Given the description of an element on the screen output the (x, y) to click on. 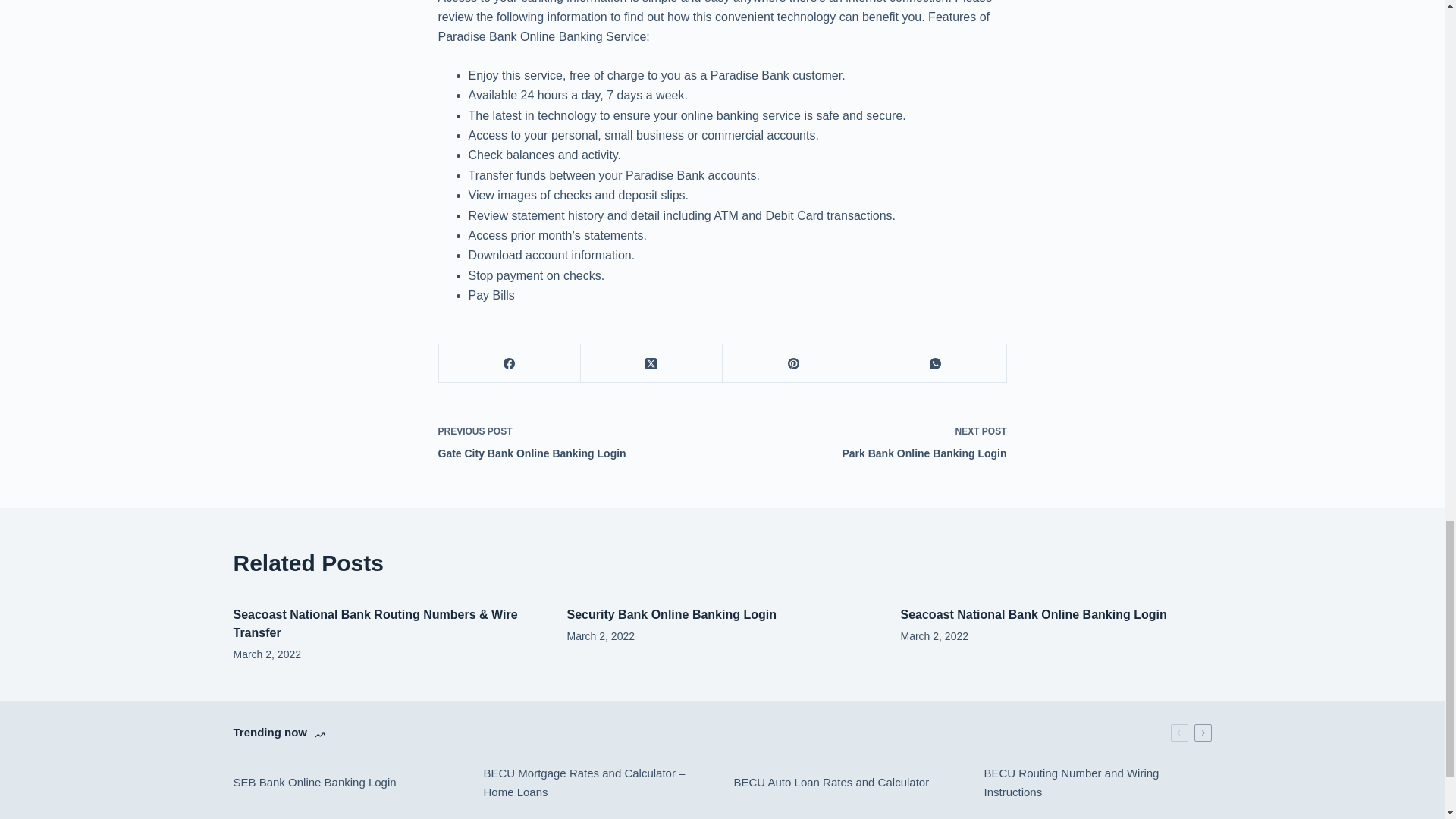
Seacoast National Bank Online Banking Login (1034, 614)
Security Bank Online Banking Login (671, 614)
BECU Routing Number and Wiring Instructions (569, 440)
SEB Bank Online Banking Login (875, 440)
BECU Auto Loan Rates and Calculator (1097, 783)
